Given the description of an element on the screen output the (x, y) to click on. 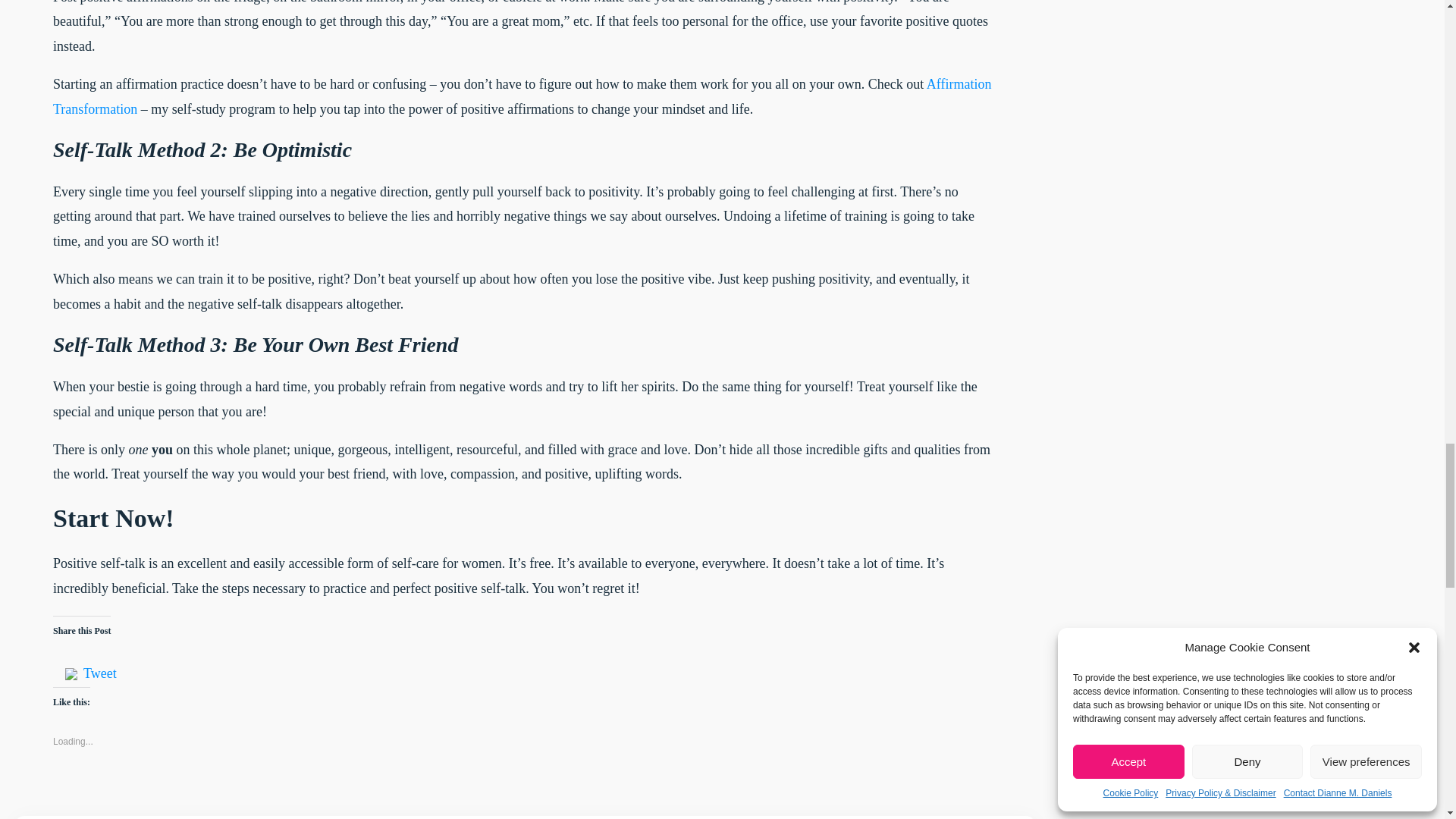
Tweet (99, 664)
Affirmation Transformation (521, 96)
